Given the description of an element on the screen output the (x, y) to click on. 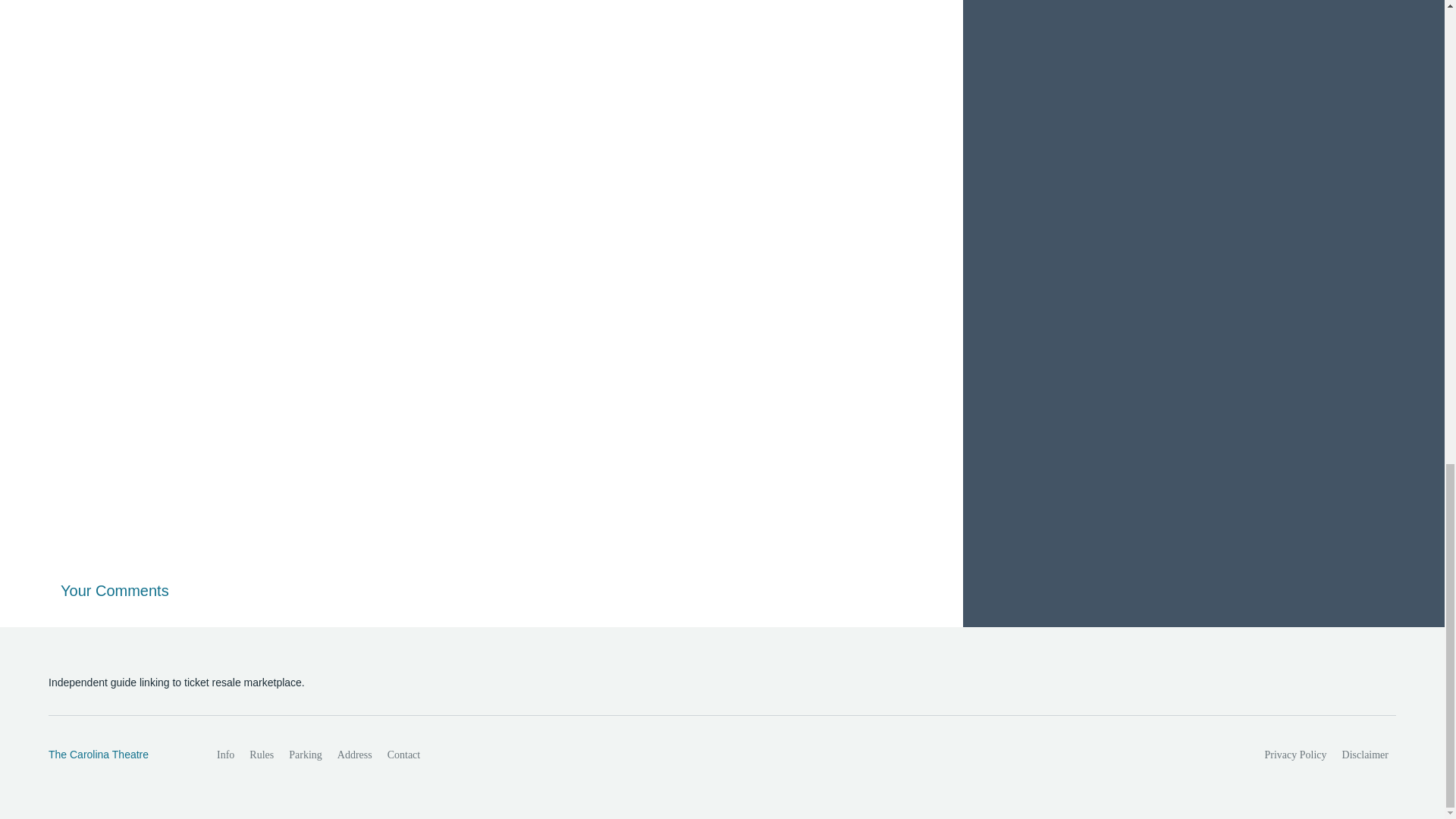
Disclaimer (1365, 755)
Contact (404, 755)
Parking (305, 755)
Rules (261, 755)
The Carolina Theatre (116, 754)
Privacy Policy (1296, 755)
Info (225, 755)
Address (355, 755)
